Given the description of an element on the screen output the (x, y) to click on. 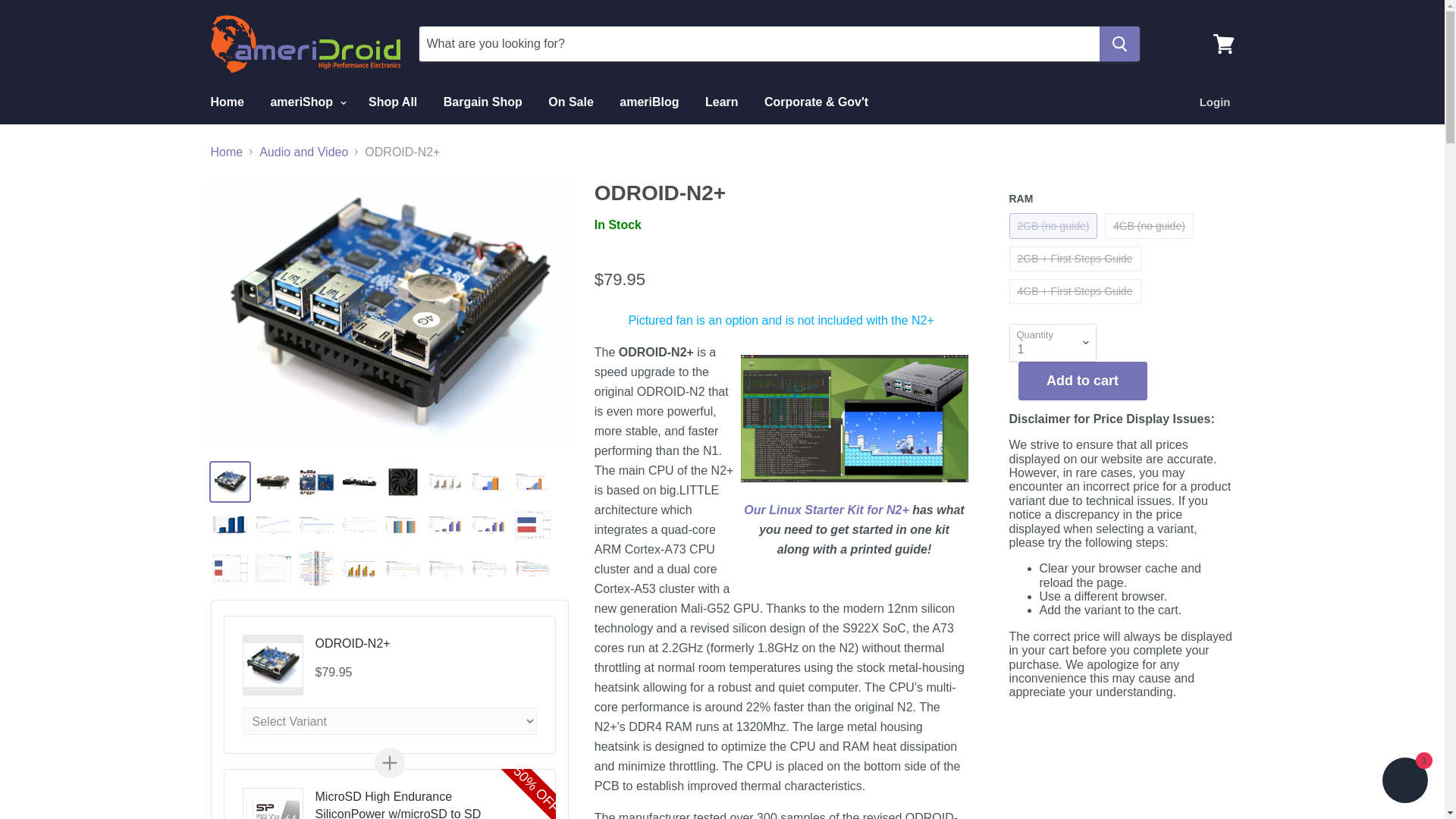
ameriShop (306, 101)
Shopify online store chat (1404, 781)
View cart (1223, 43)
Home (226, 101)
